Given the description of an element on the screen output the (x, y) to click on. 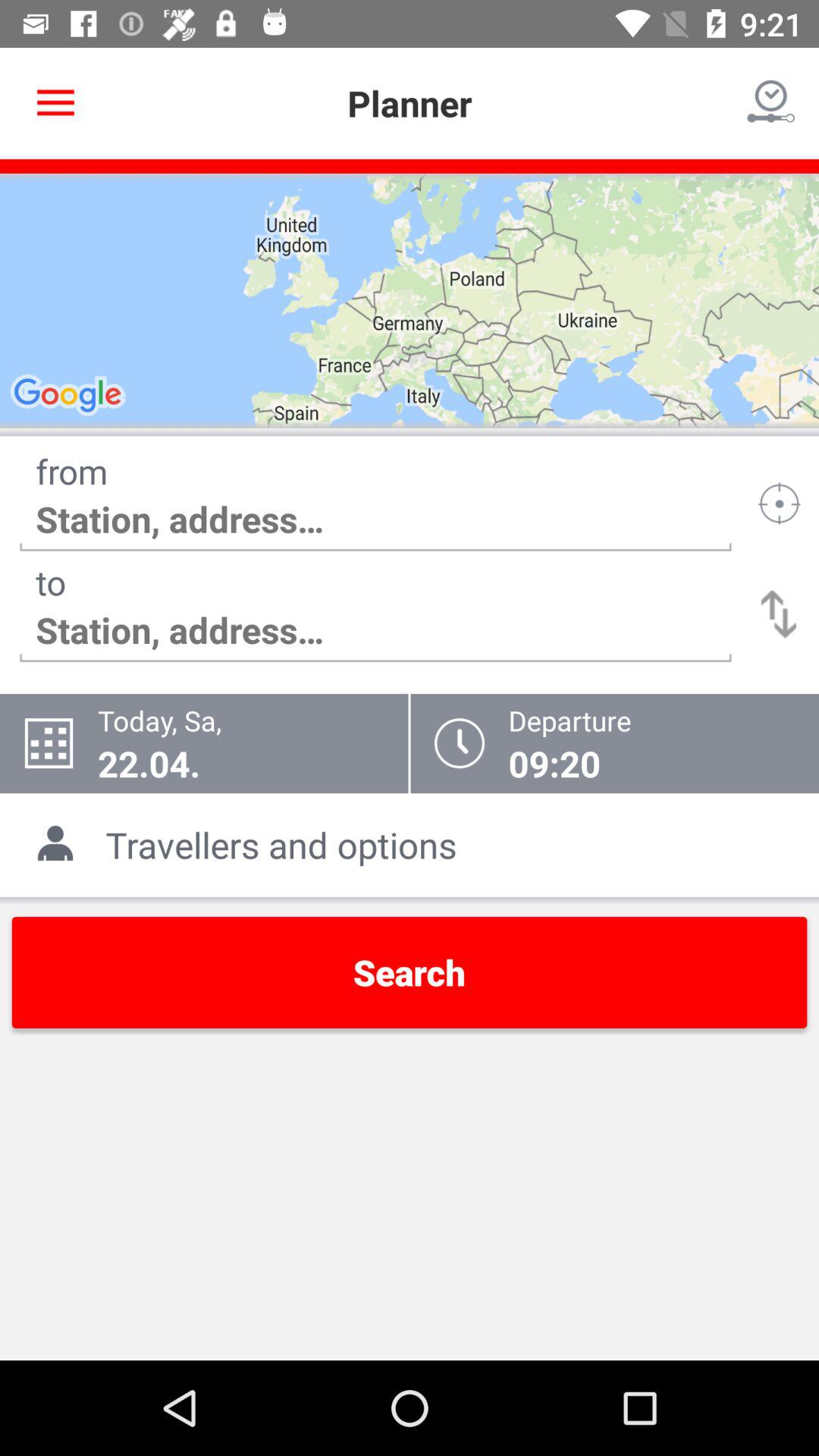
click icon to the left of planner icon (55, 103)
